Given the description of an element on the screen output the (x, y) to click on. 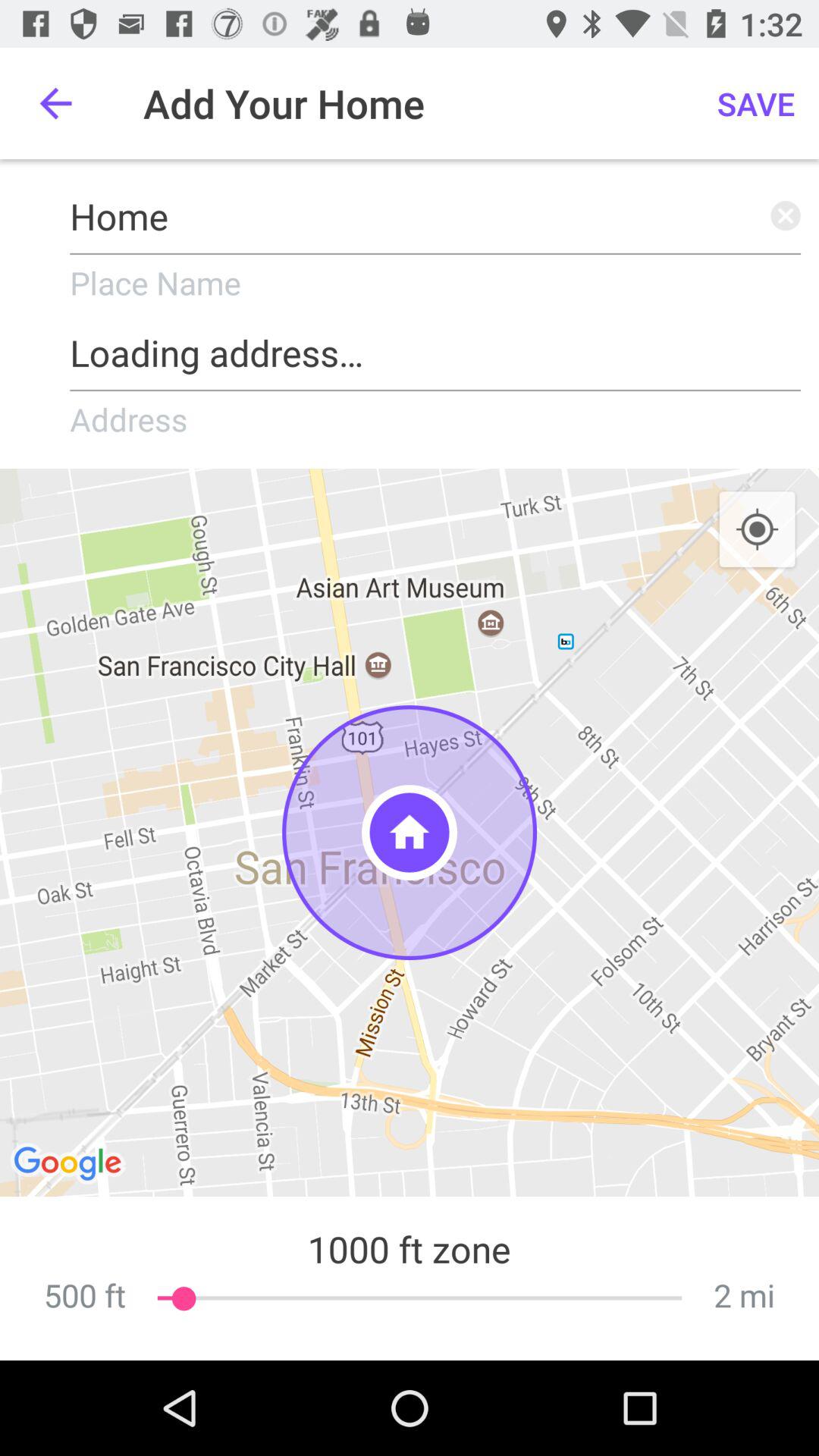
choose item above the 2 mi (757, 530)
